Given the description of an element on the screen output the (x, y) to click on. 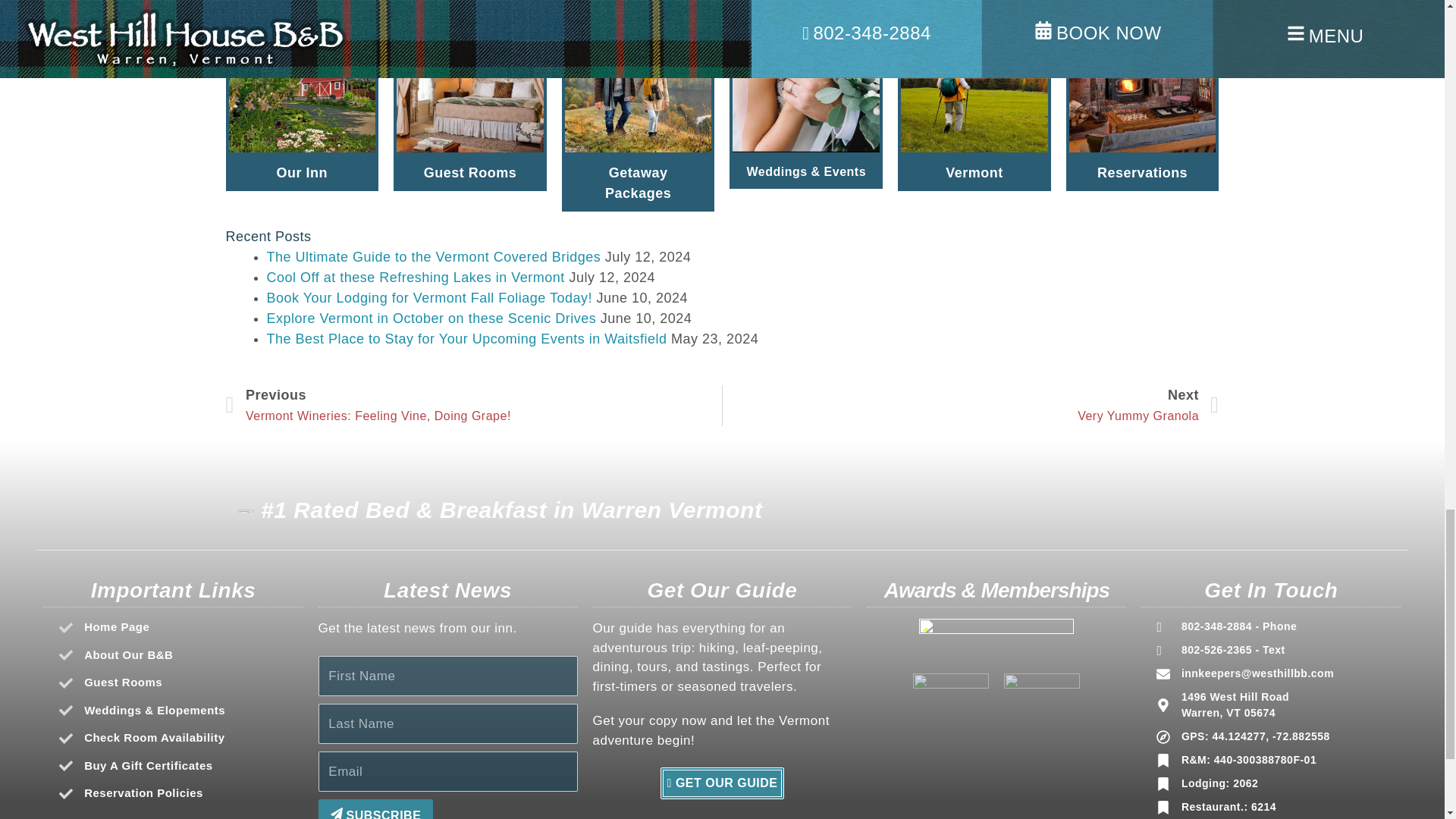
Vermont (974, 172)
Book Your Lodging for Vermont Fall Foliage Today! (429, 297)
Guest Rooms (470, 172)
Home Page (971, 404)
The Ultimate Guide to the Vermont Covered Bridges (180, 627)
Cool Off at these Refreshing Lakes in Vermont (433, 256)
Guest Rooms (415, 277)
Explore Vermont in October on these Scenic Drives (180, 682)
Getaway Packages (431, 318)
Reservations (473, 404)
Our Inn (638, 183)
